Given the description of an element on the screen output the (x, y) to click on. 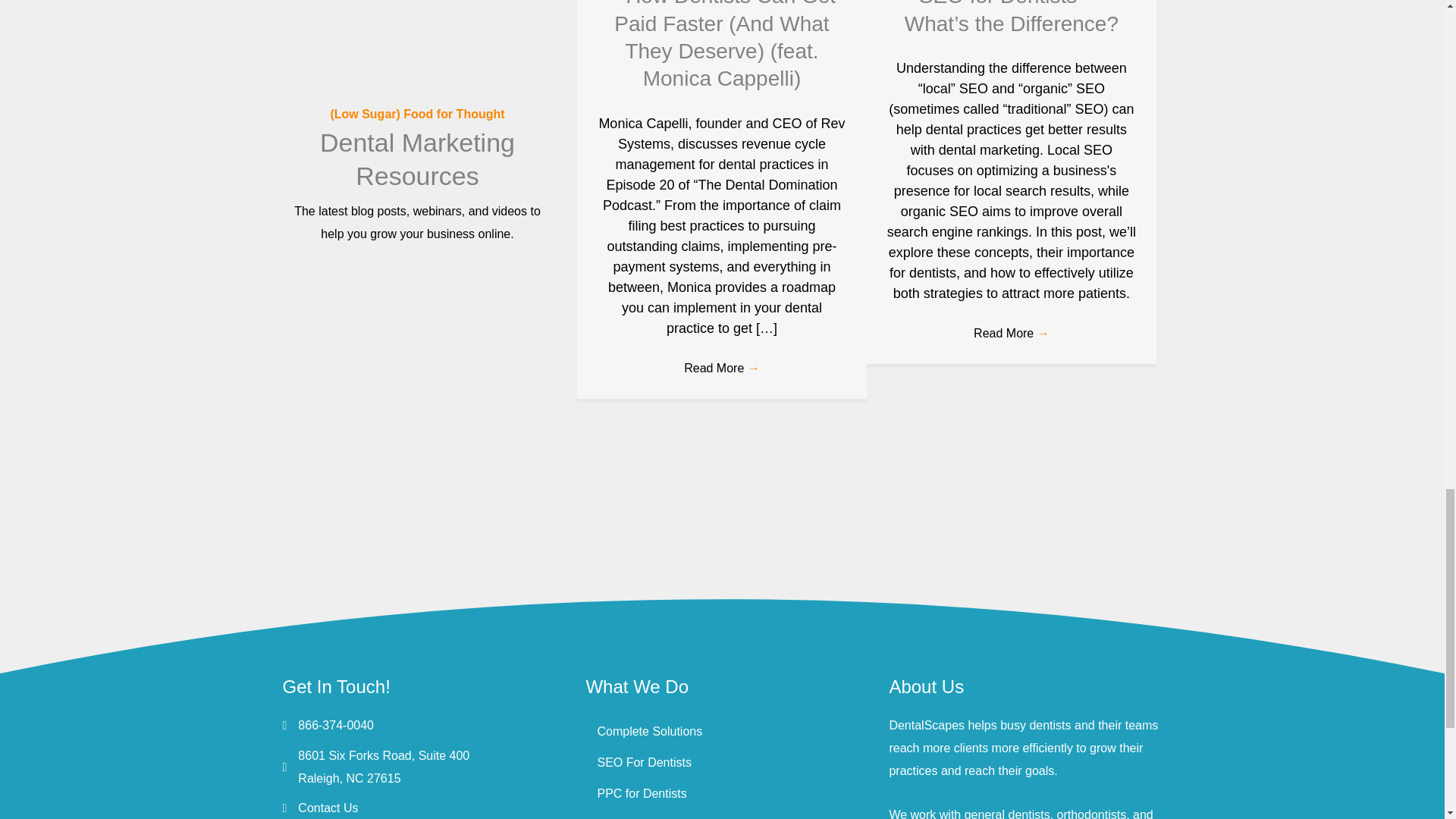
Top-Marketing-Agencies-Logo-PNG (721, 517)
image (357, 516)
Top SEO Agency - Upcity (539, 517)
